Given the description of an element on the screen output the (x, y) to click on. 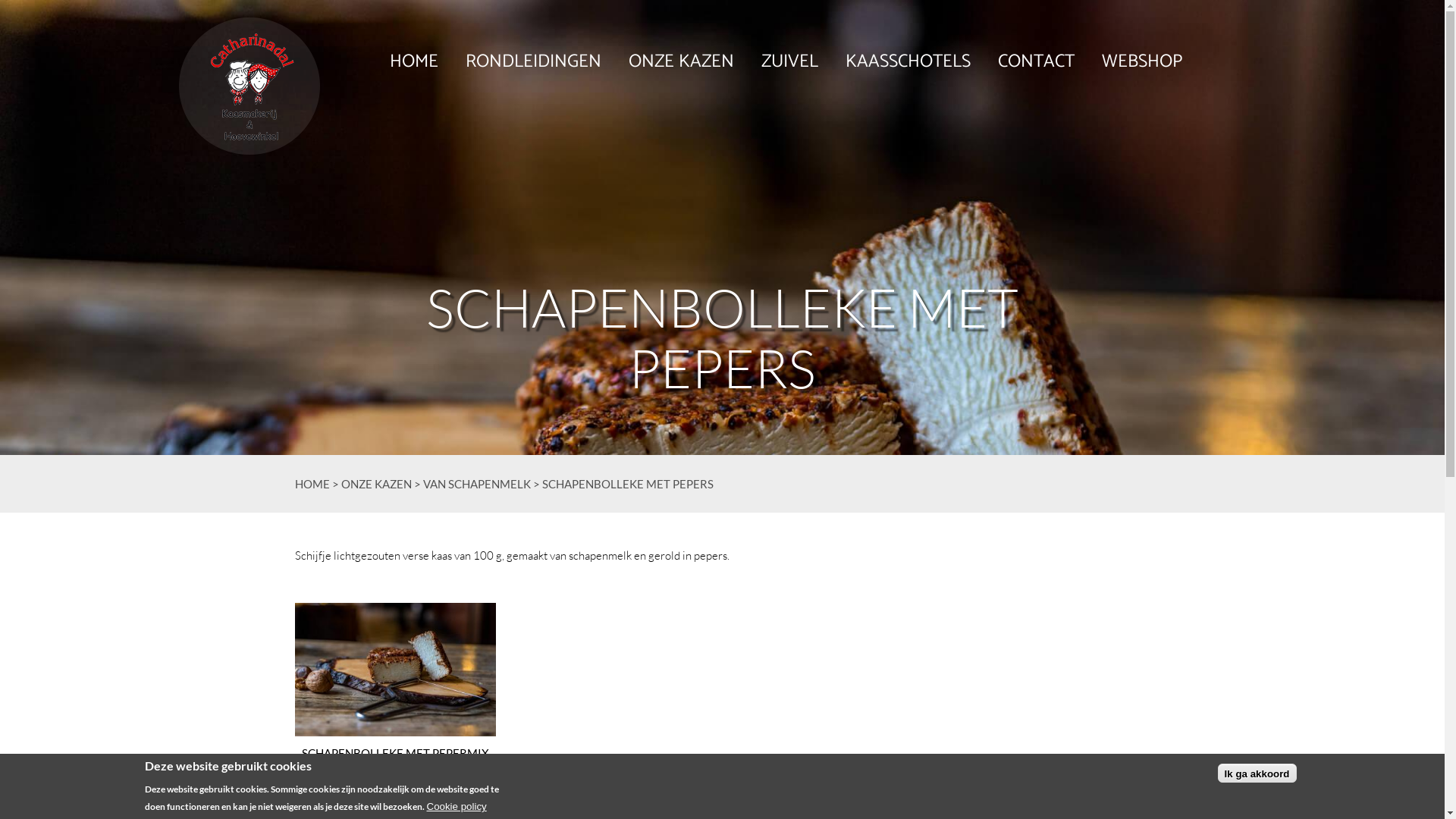
ONZE KAZEN Element type: text (376, 483)
Skip to main content Element type: text (0, 0)
ZUIVEL Element type: text (789, 61)
Cookie policy Element type: text (456, 806)
SCHAPENBOLLEKE MET PEPERMIX Element type: text (394, 682)
ONZE KAZEN Element type: text (681, 61)
RONDLEIDINGEN Element type: text (533, 61)
HOME Element type: text (311, 483)
HOME Element type: text (413, 61)
KAASSCHOTELS Element type: text (907, 61)
VAN SCHAPENMELK Element type: text (476, 483)
WEBSHOP Element type: text (1141, 61)
Ik ga akkoord Element type: text (1256, 772)
CONTACT Element type: text (1035, 61)
